Given the description of an element on the screen output the (x, y) to click on. 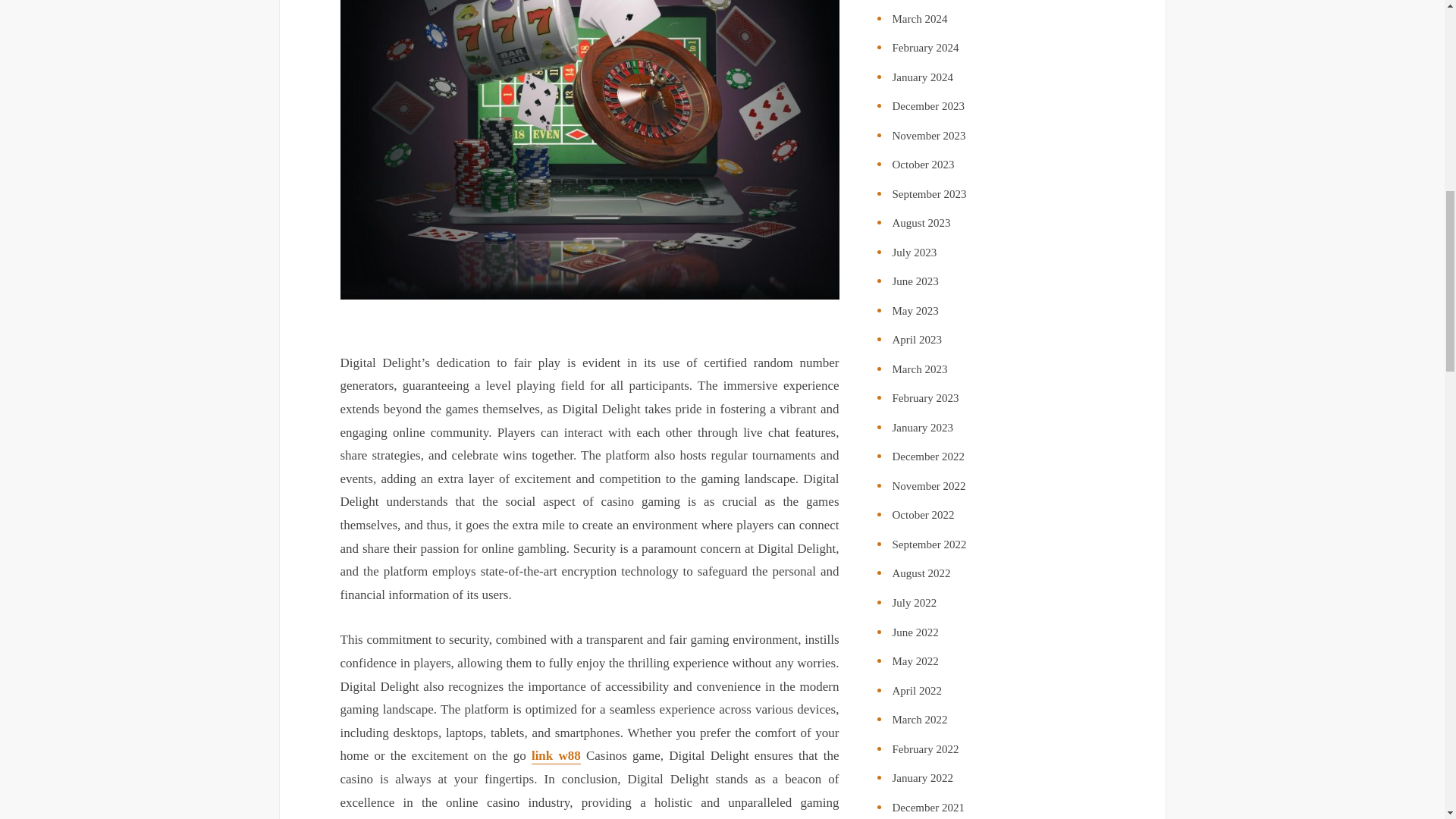
March 2023 (919, 369)
July 2023 (913, 252)
November 2023 (928, 135)
October 2023 (922, 164)
January 2024 (921, 77)
December 2023 (927, 105)
May 2023 (914, 310)
April 2023 (915, 339)
September 2023 (928, 193)
link w88 (555, 756)
March 2024 (919, 19)
August 2023 (920, 223)
June 2023 (914, 281)
February 2024 (924, 47)
